Given the description of an element on the screen output the (x, y) to click on. 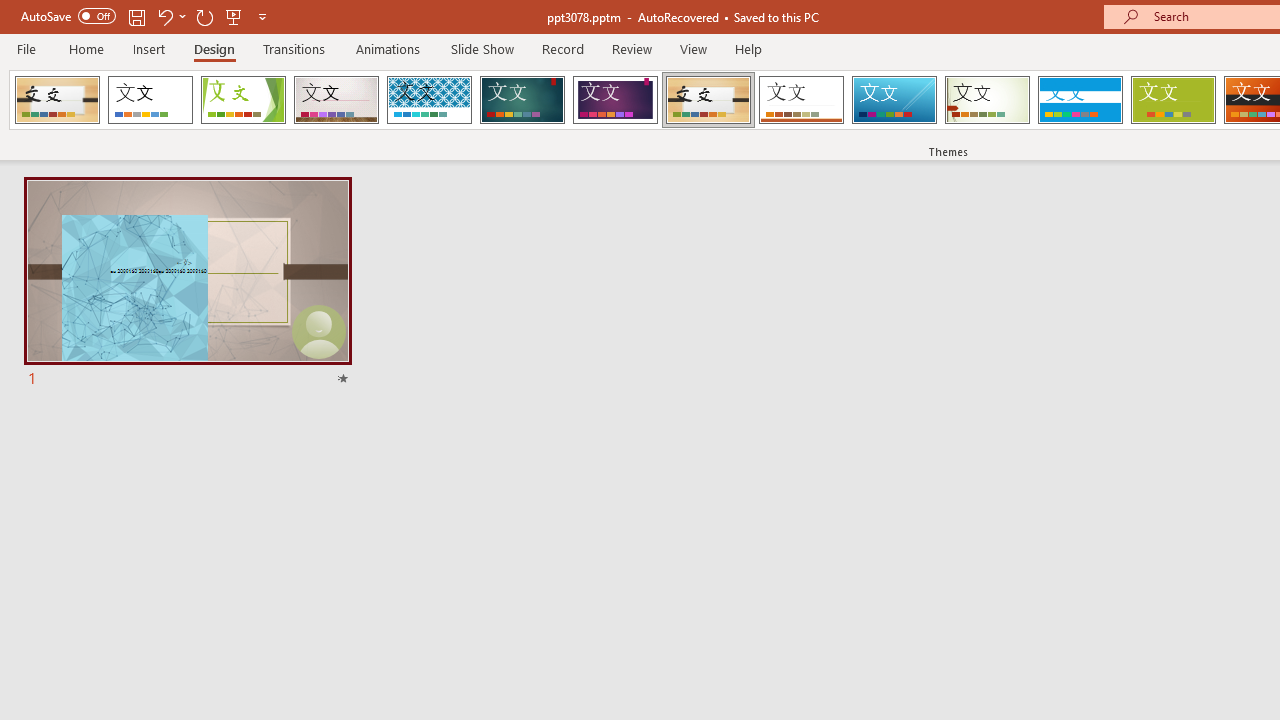
Ion Boardroom (615, 100)
Facet (243, 100)
